Given the description of an element on the screen output the (x, y) to click on. 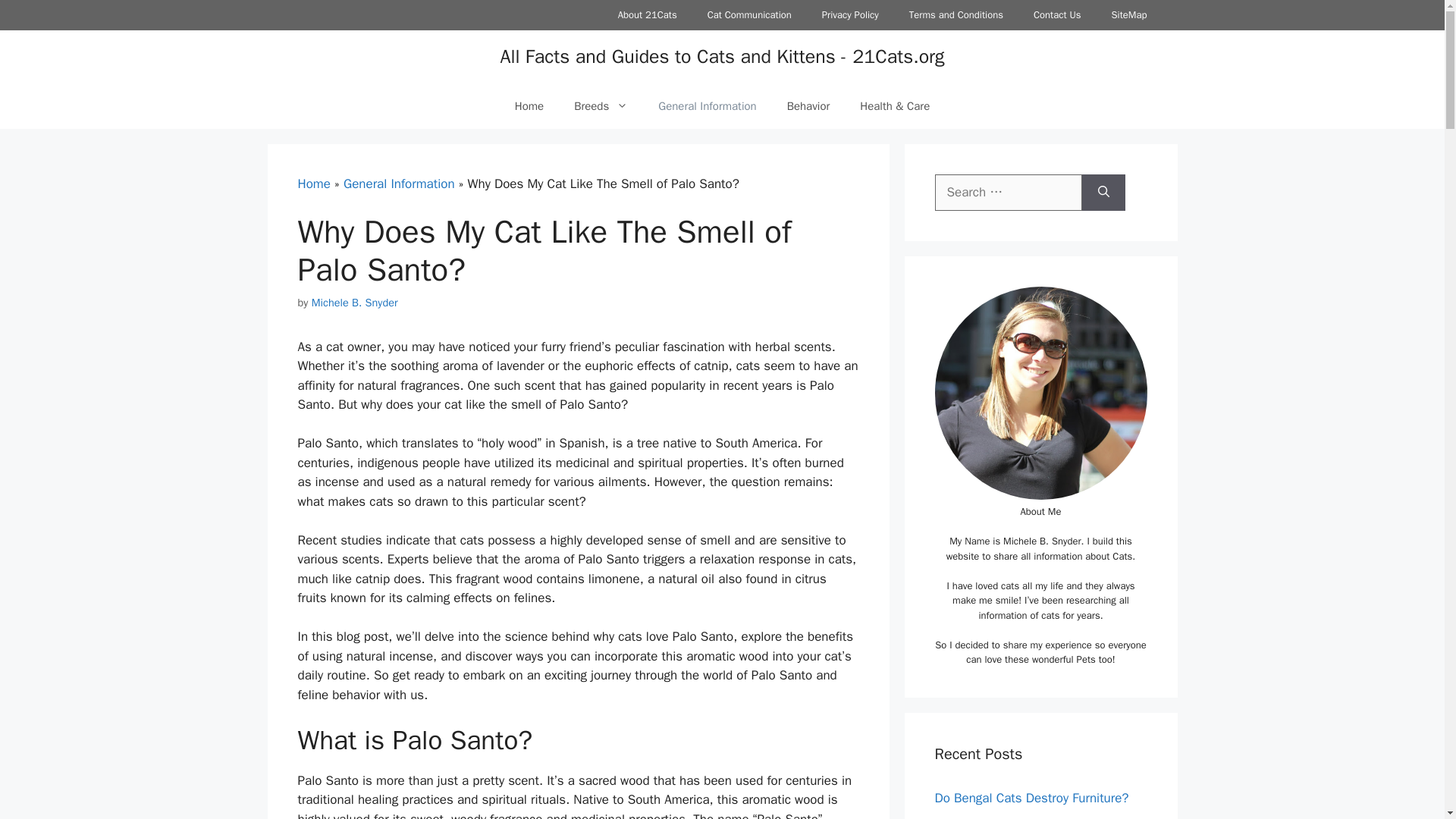
Search for: (1007, 192)
Home (529, 105)
Behavior (808, 105)
General Information (707, 105)
SiteMap (1128, 15)
All Facts and Guides to Cats and Kittens - 21Cats.org (721, 56)
Contact Us (1056, 15)
Cat Communication (749, 15)
Michele B. Snyder (354, 302)
View all posts by Michele B. Snyder (354, 302)
